Given the description of an element on the screen output the (x, y) to click on. 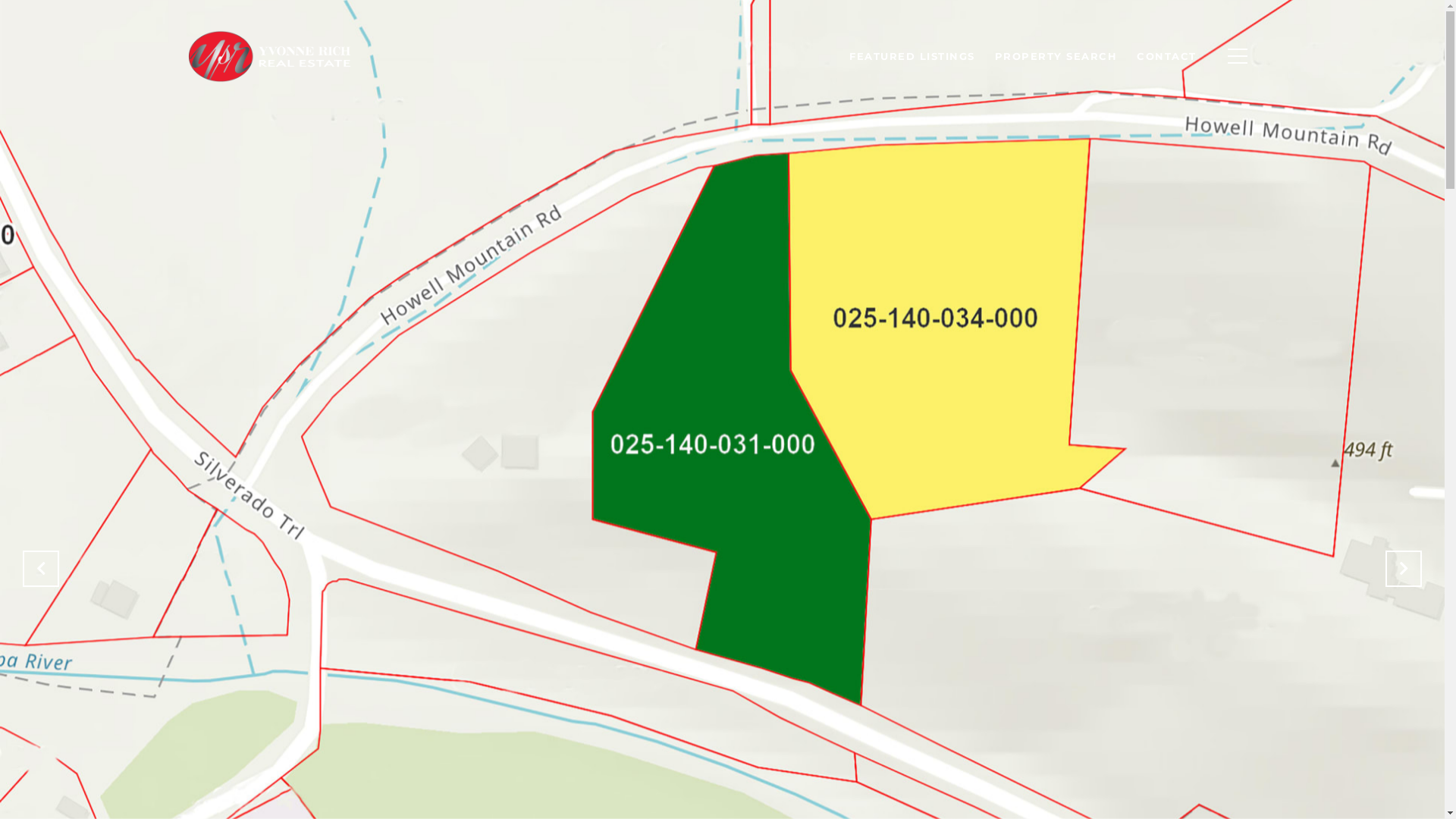
FEATURED LISTINGS Element type: text (912, 55)
PROPERTY SEARCH Element type: text (1055, 55)
CONTACT Element type: text (1166, 55)
